Given the description of an element on the screen output the (x, y) to click on. 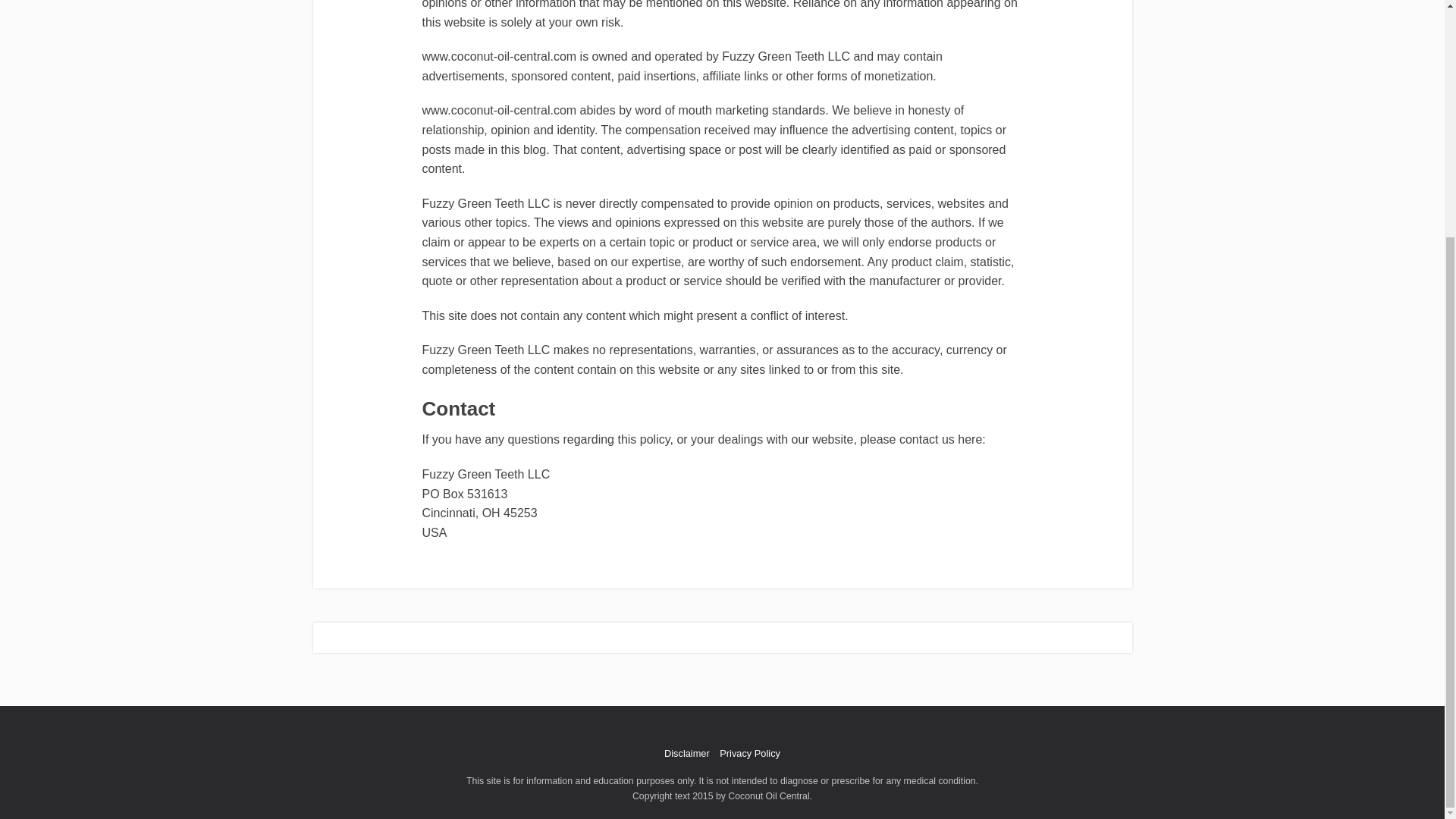
Privacy Policy (749, 753)
Disclaimer (686, 753)
